Given the description of an element on the screen output the (x, y) to click on. 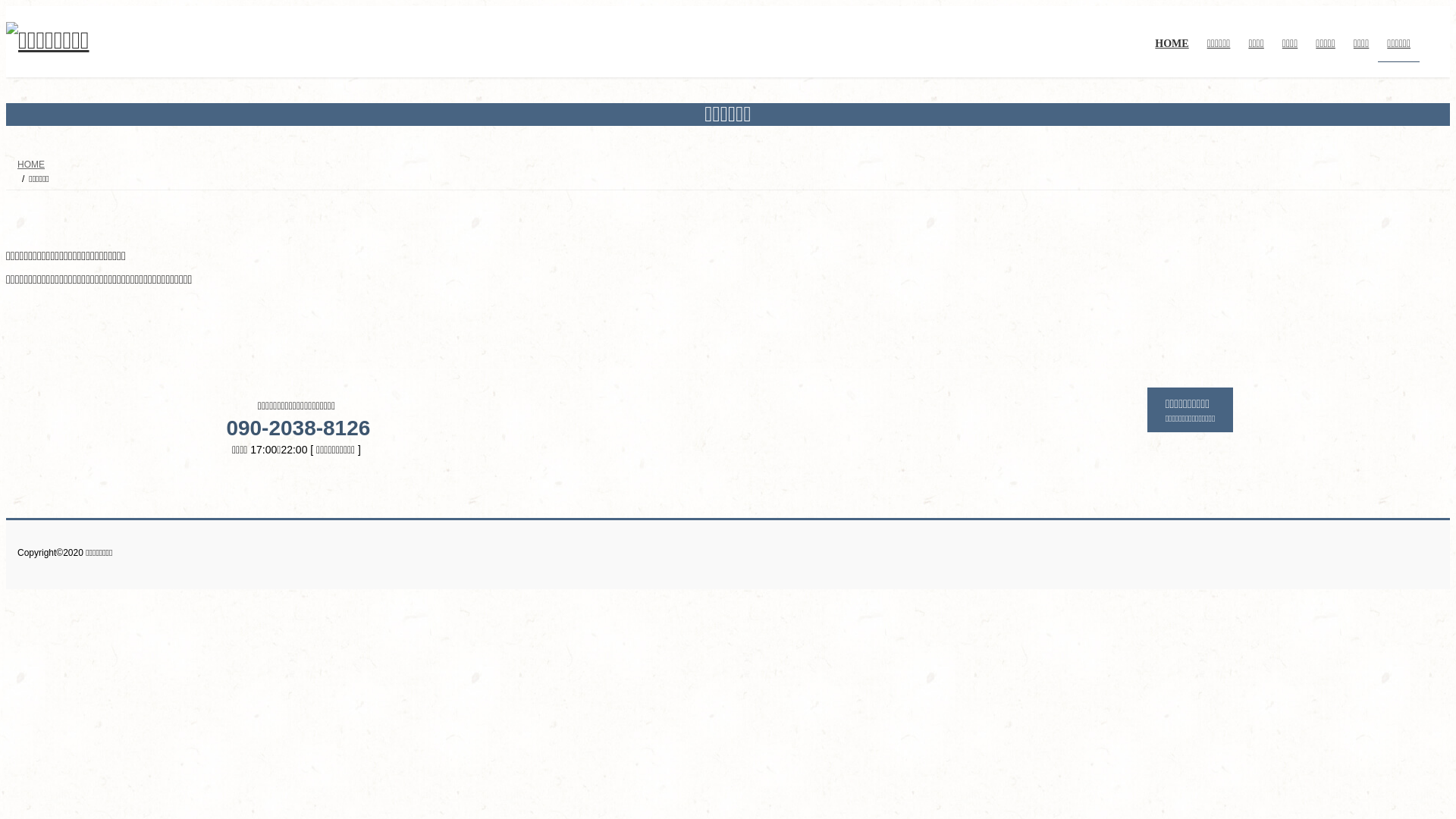
HOME Element type: text (1171, 54)
HOME Element type: text (30, 163)
